Given the description of an element on the screen output the (x, y) to click on. 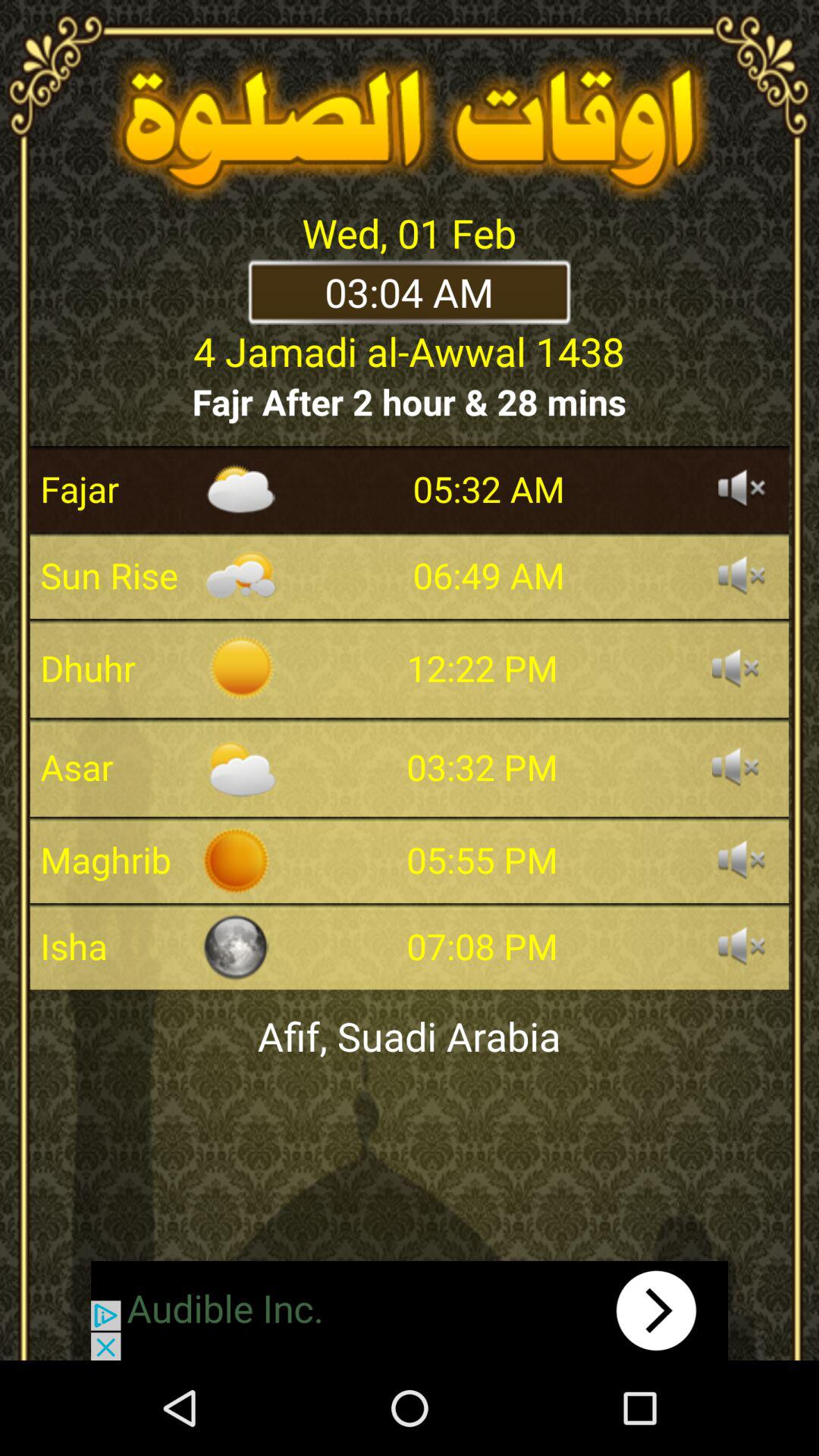
toggle audio (741, 946)
